Given the description of an element on the screen output the (x, y) to click on. 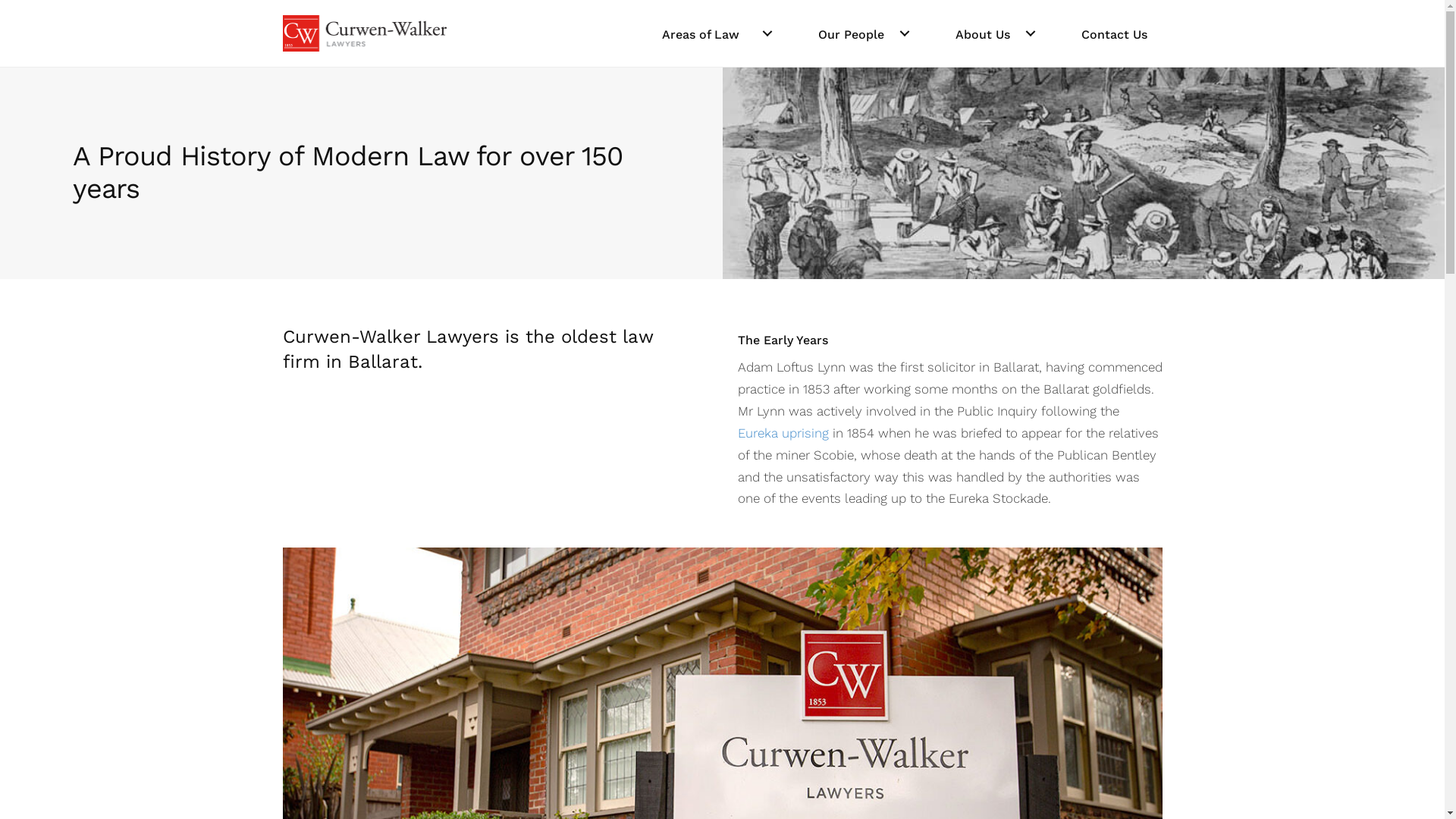
About Us Element type: text (995, 33)
curwen-walker-logo-2 Element type: hover (363, 33)
Contact Us Element type: text (1114, 33)
Areas of Law   Element type: text (716, 33)
Our People Element type: text (863, 33)
Eureka uprising Element type: text (782, 432)
